Given the description of an element on the screen output the (x, y) to click on. 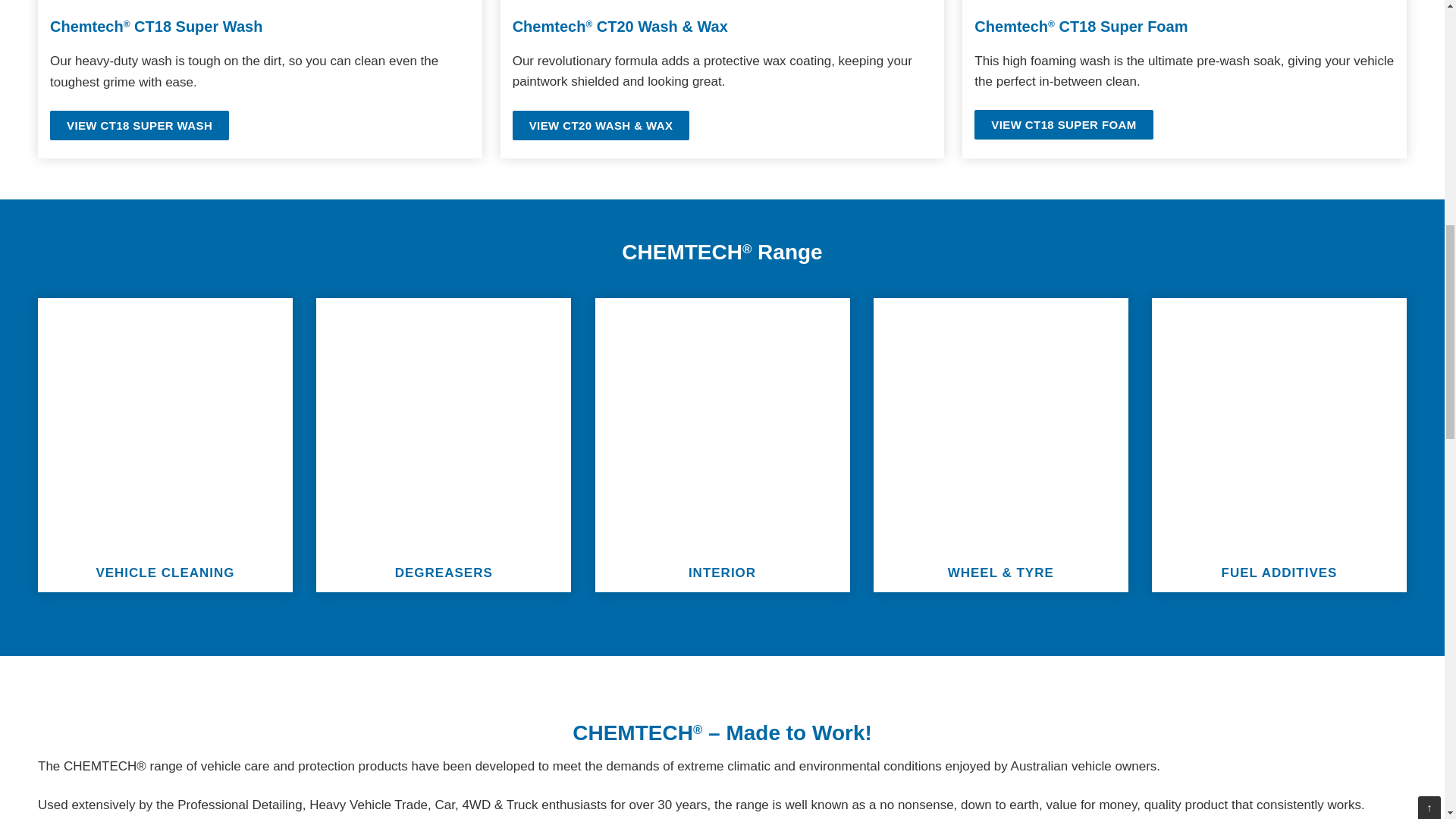
VIEW CT18 SUPER WASH (138, 125)
FUEL ADDITIVES (1279, 572)
VIEW CT18 SUPER FOAM (1063, 124)
INTERIOR (721, 572)
VEHICLE CLEANING (165, 572)
DEGREASERS (443, 572)
